Given the description of an element on the screen output the (x, y) to click on. 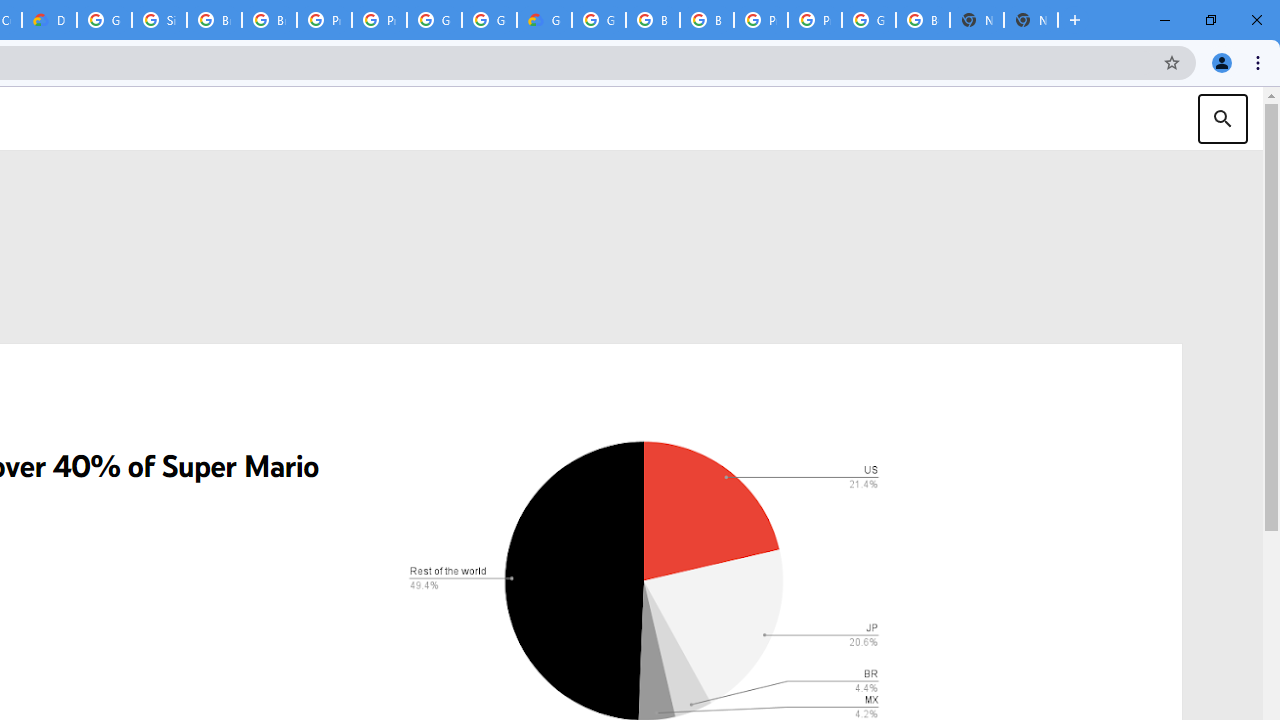
Google Cloud Platform (489, 20)
New Tab (1030, 20)
Google Cloud Estimate Summary (544, 20)
Google Cloud Platform (434, 20)
Google Cloud Platform (598, 20)
Sign in - Google Accounts (158, 20)
Browse Chrome as a guest - Computer - Google Chrome Help (268, 20)
Browse Chrome as a guest - Computer - Google Chrome Help (652, 20)
